Given the description of an element on the screen output the (x, y) to click on. 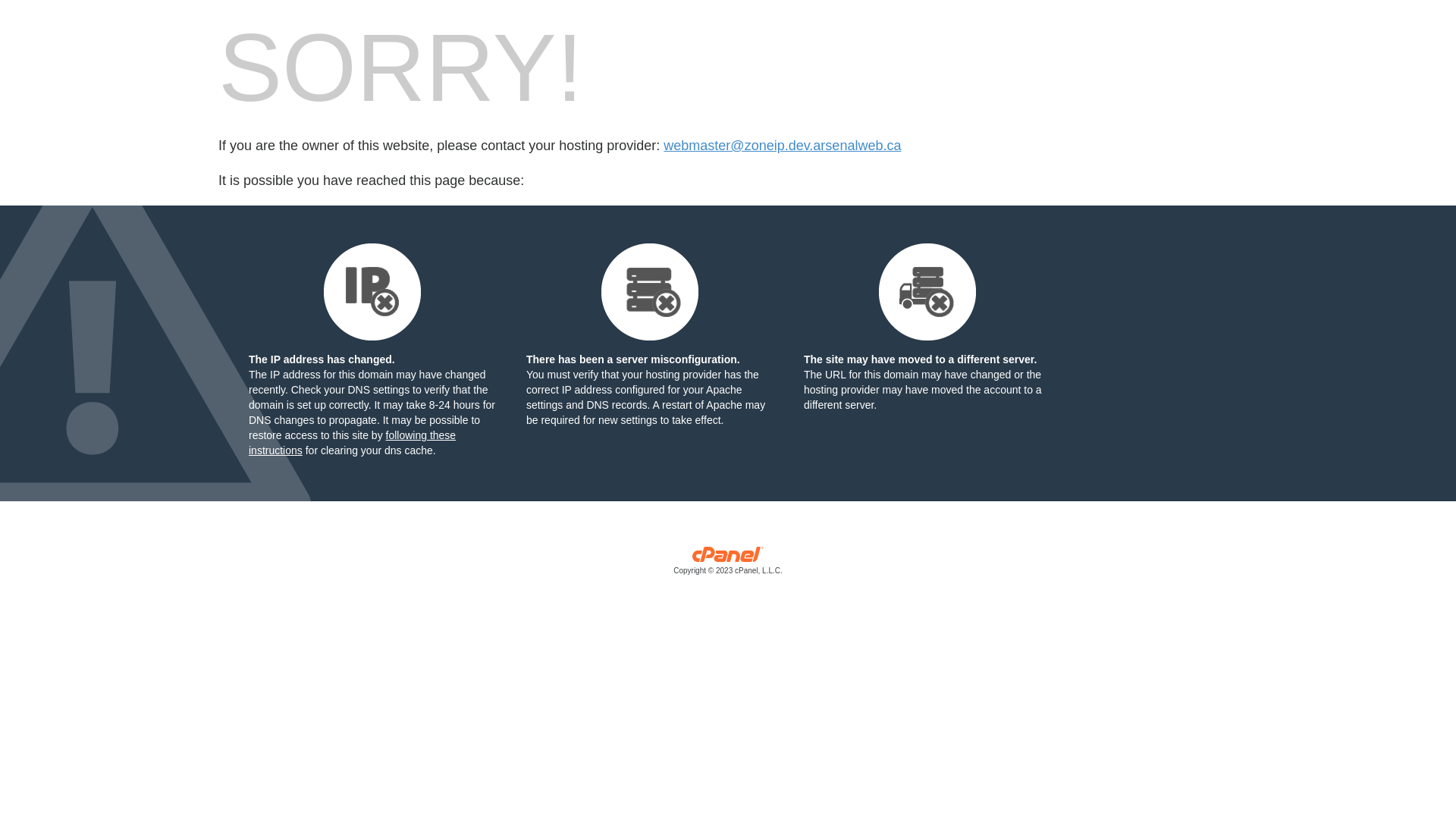
following these instructions Element type: text (351, 442)
webmaster@zoneip.dev.arsenalweb.ca Element type: text (781, 145)
